Given the description of an element on the screen output the (x, y) to click on. 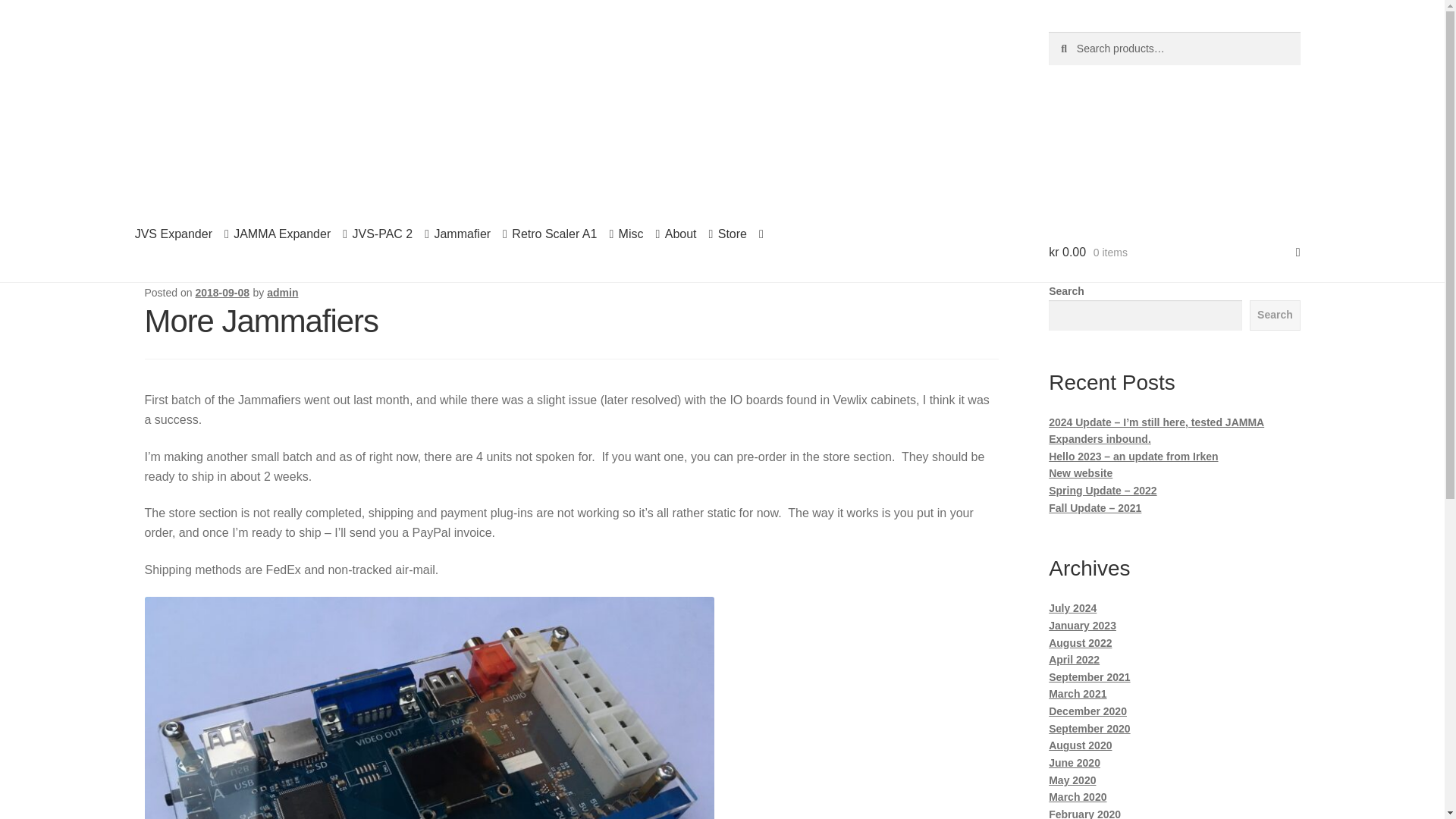
Retro Scaler A1 (562, 234)
JVS-PAC 2 (389, 234)
JAMMA Expander (290, 234)
JVS Expander (181, 234)
Jammafier (469, 234)
View your shopping cart (1174, 252)
